Given the description of an element on the screen output the (x, y) to click on. 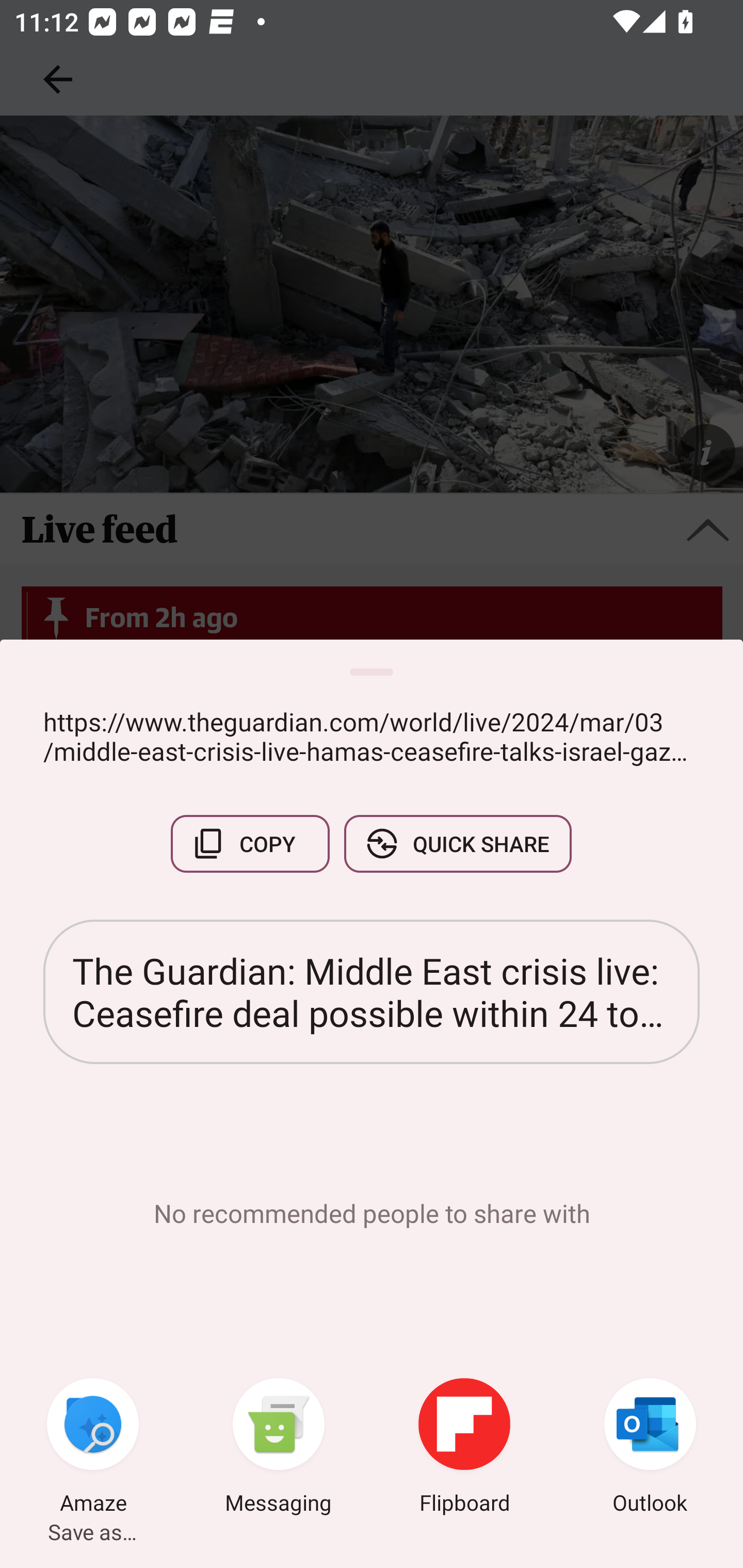
COPY (249, 844)
QUICK SHARE (457, 844)
Amaze Save as… (92, 1448)
Messaging (278, 1448)
Flipboard (464, 1448)
Outlook (650, 1448)
